Given the description of an element on the screen output the (x, y) to click on. 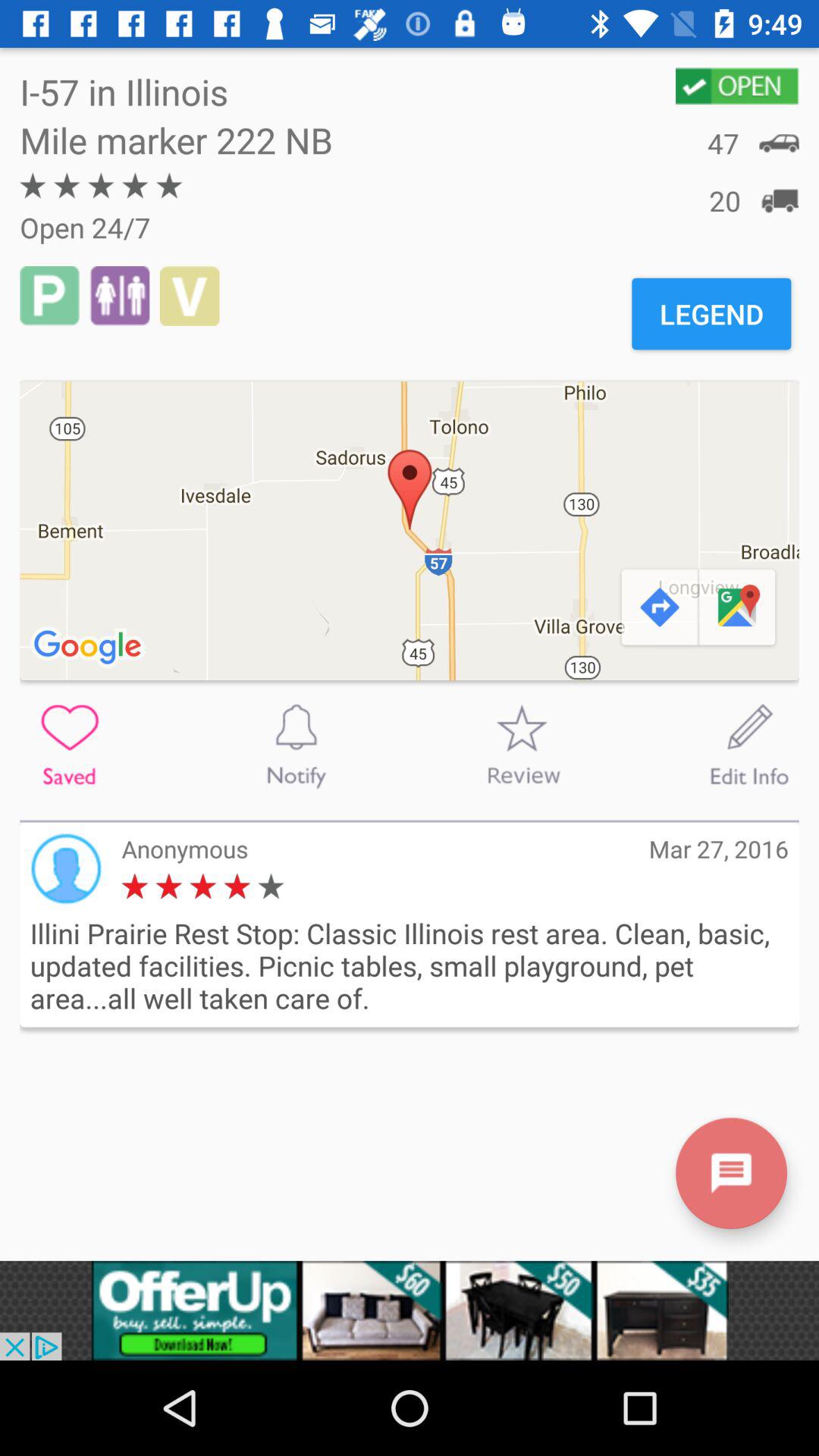
to notify (295, 744)
